Given the description of an element on the screen output the (x, y) to click on. 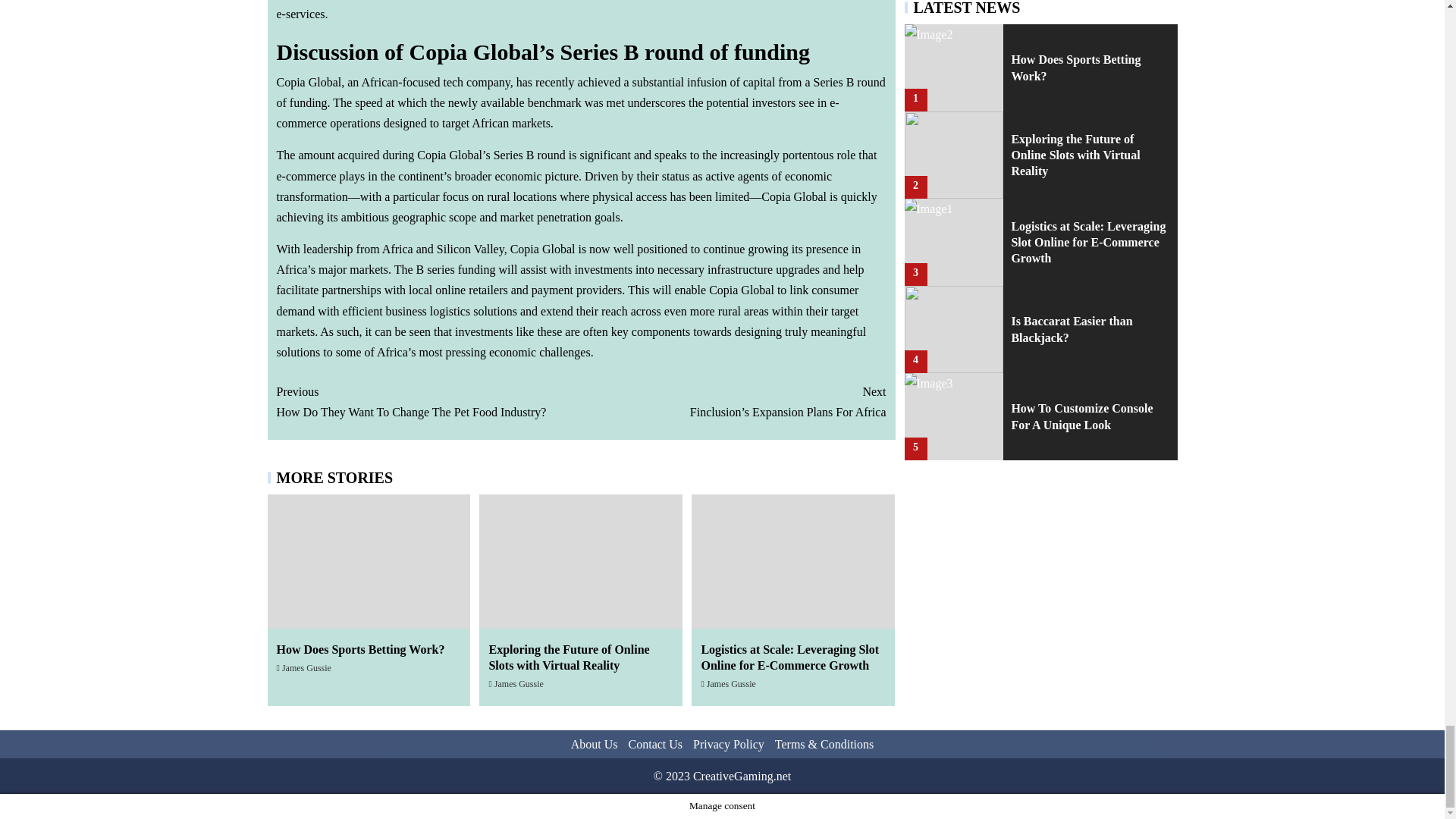
How Does Sports Betting Work? (428, 401)
